Given the description of an element on the screen output the (x, y) to click on. 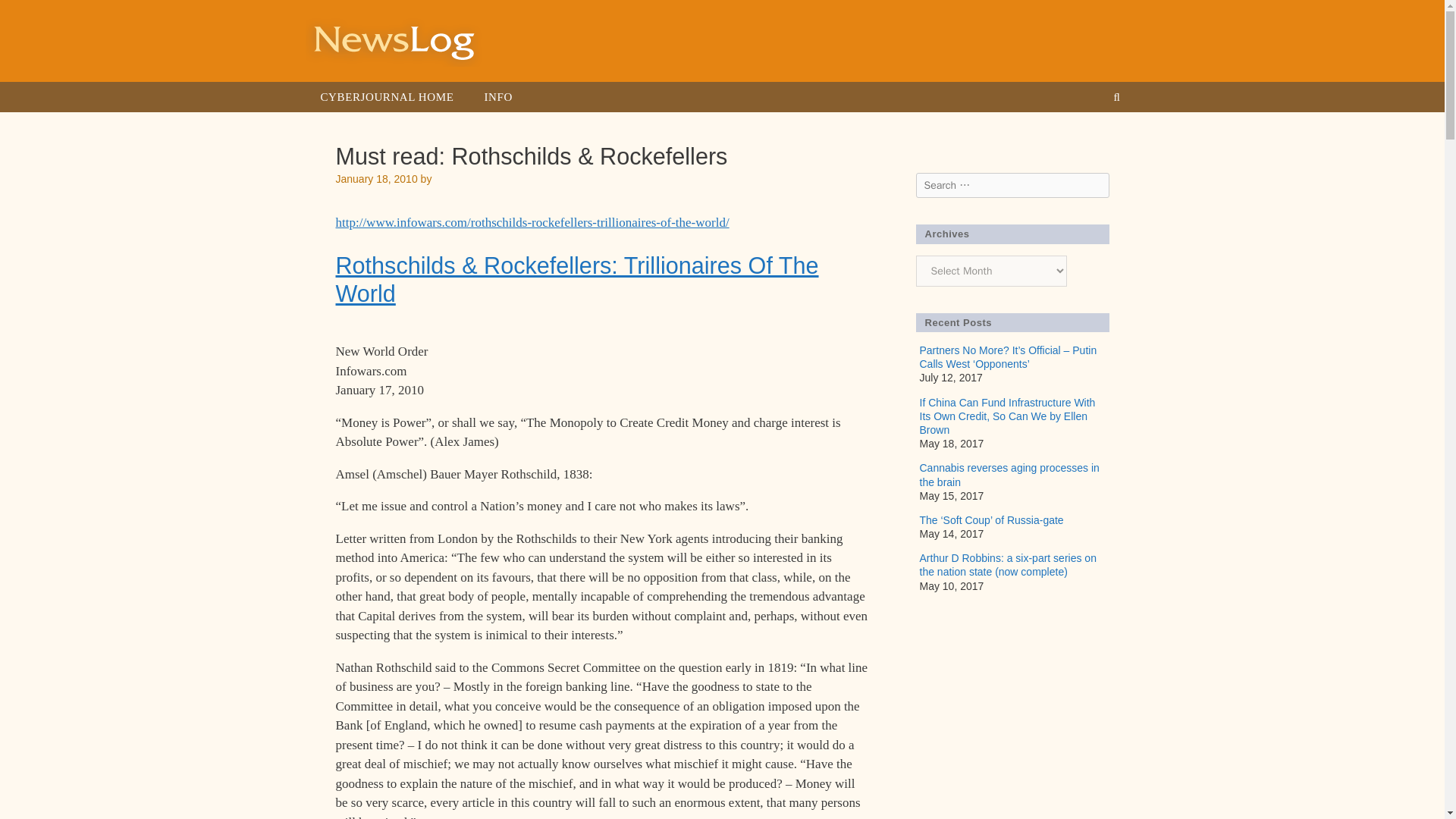
CYBERJOURNAL HOME (386, 96)
INFO (497, 96)
Cannabis reverses aging processes in the brain (1008, 474)
Search (32, 16)
